Given the description of an element on the screen output the (x, y) to click on. 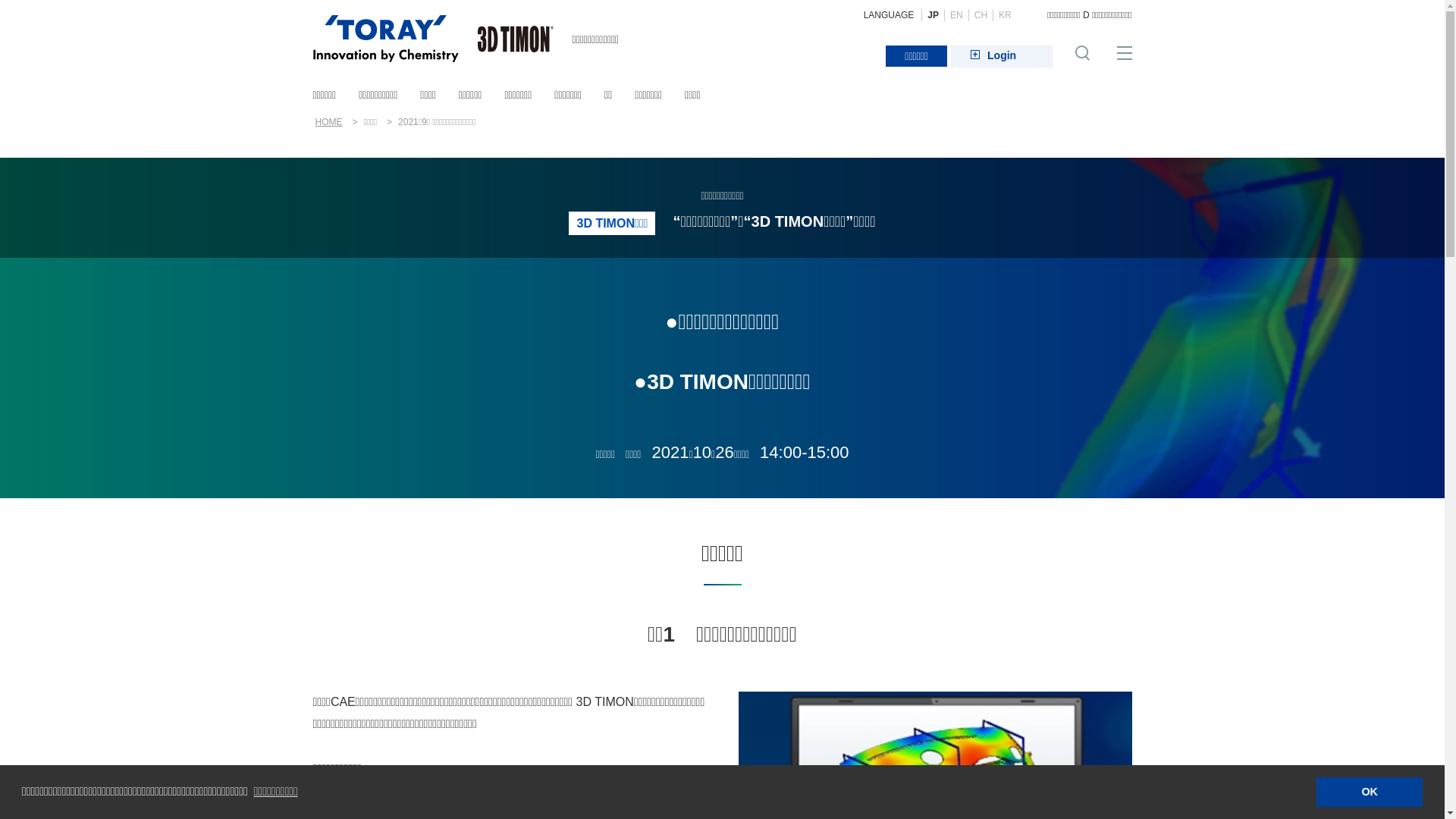
OK Element type: text (1369, 791)
HOME Element type: text (328, 121)
CH Element type: text (980, 15)
JP Element type: text (932, 15)
EN Element type: text (956, 15)
KR Element type: text (1004, 15)
